Given the description of an element on the screen output the (x, y) to click on. 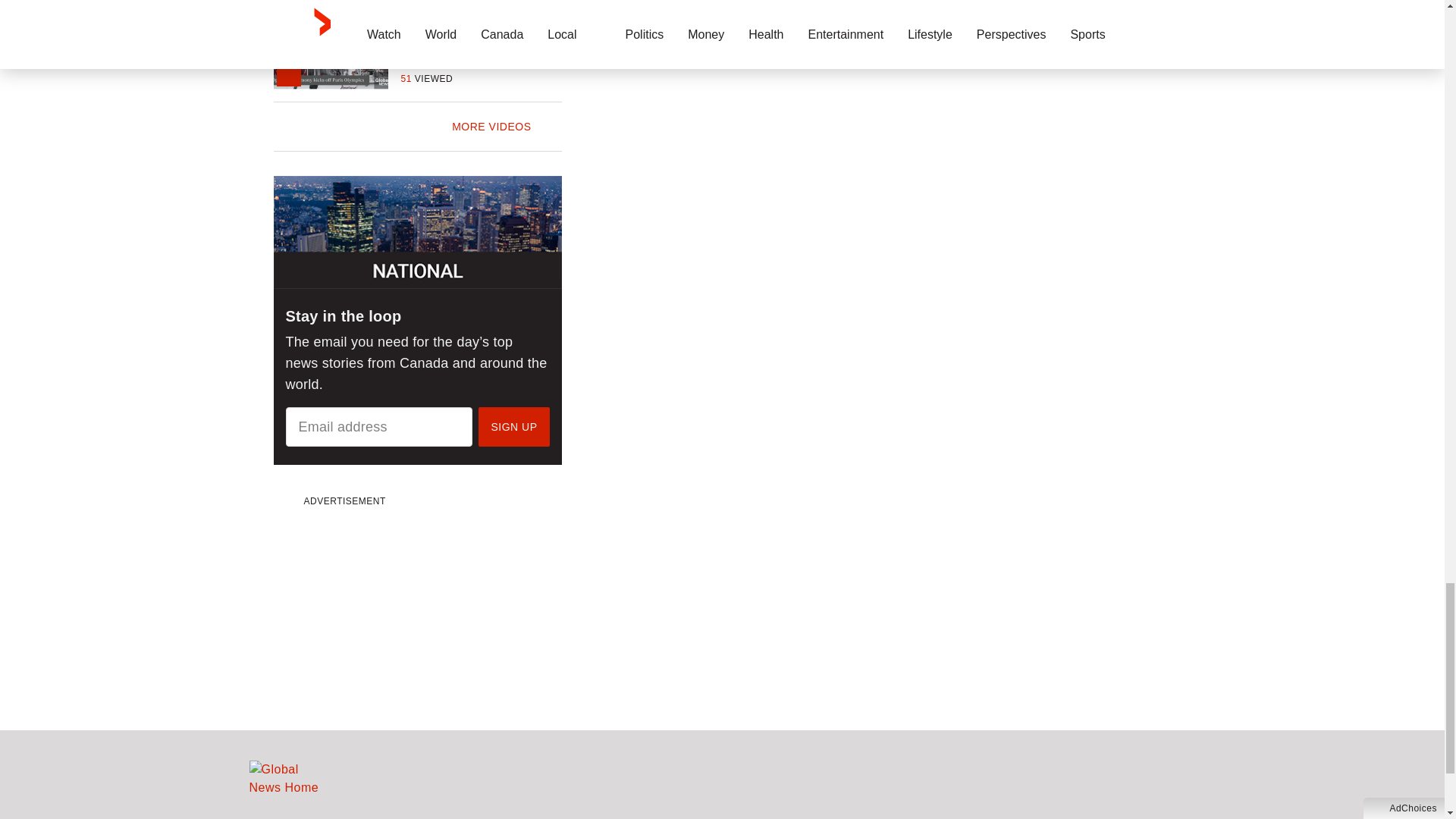
Paris 2024 opening ceremony kicks off Olympic games (480, 39)
